Given the description of an element on the screen output the (x, y) to click on. 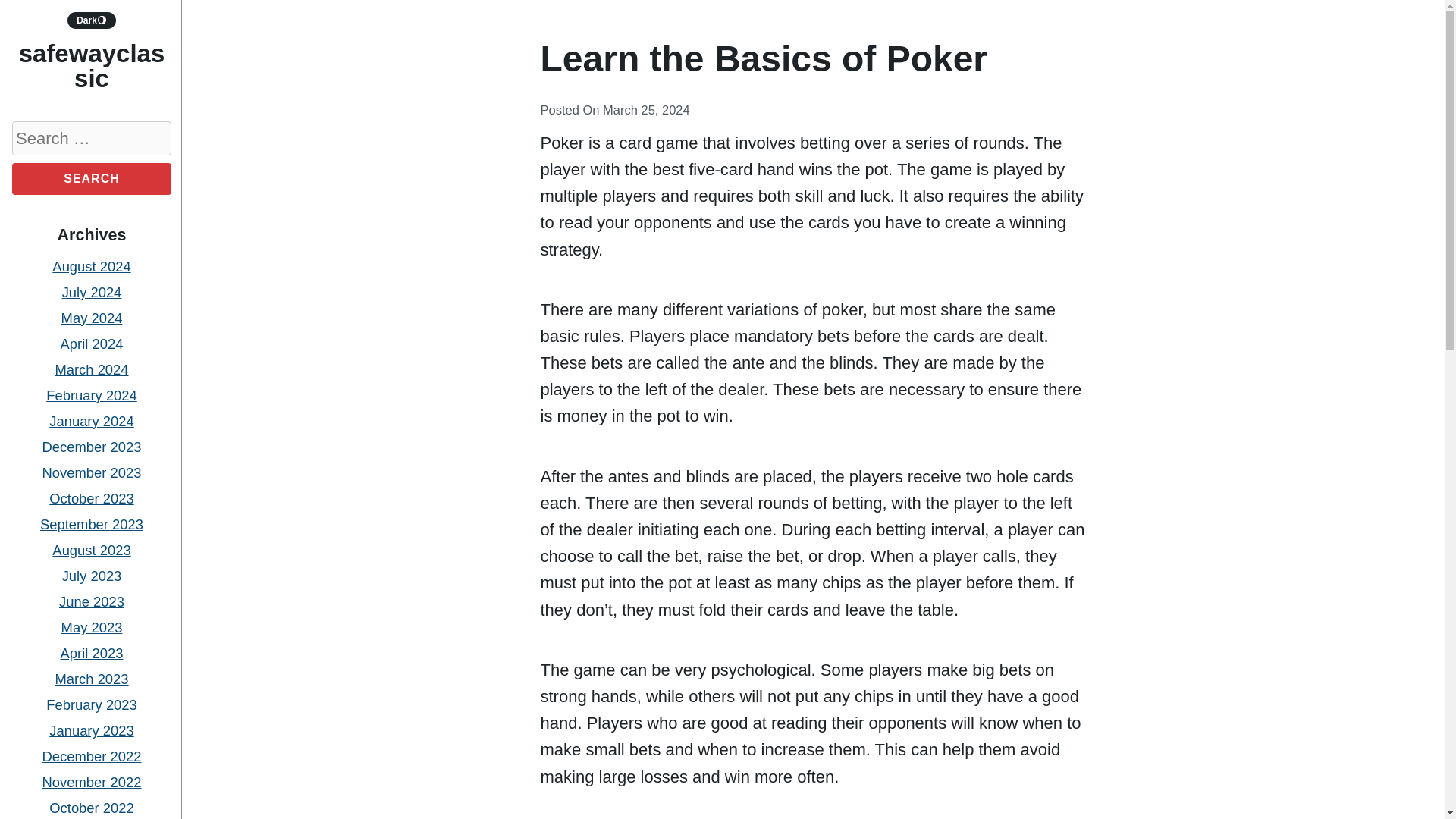
September 2023 (91, 524)
February 2023 (91, 704)
April 2024 (92, 343)
January 2023 (91, 730)
August 2023 (91, 549)
March 2024 (91, 369)
Search (91, 178)
January 2024 (91, 421)
October 2022 (91, 807)
Search (91, 178)
